Given the description of an element on the screen output the (x, y) to click on. 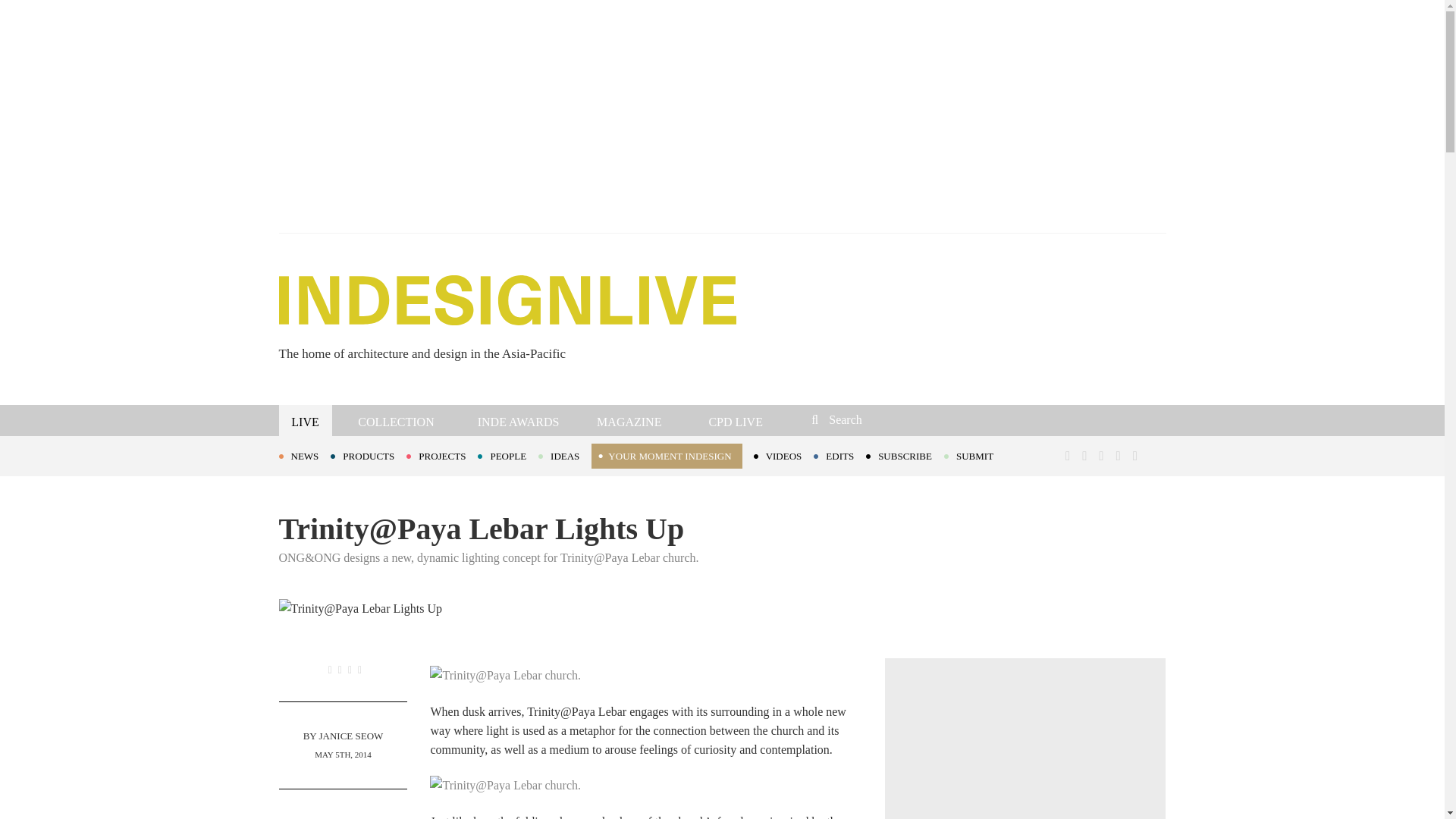
PEOPLE (507, 455)
EDITS (839, 455)
PROJECTS (441, 455)
SUBSCRIBE (904, 455)
Search (913, 418)
YOUR MOMENT INDESIGN (666, 455)
PRODUCTS (368, 455)
SUBMIT (974, 455)
IDEAS (564, 455)
